Given the description of an element on the screen output the (x, y) to click on. 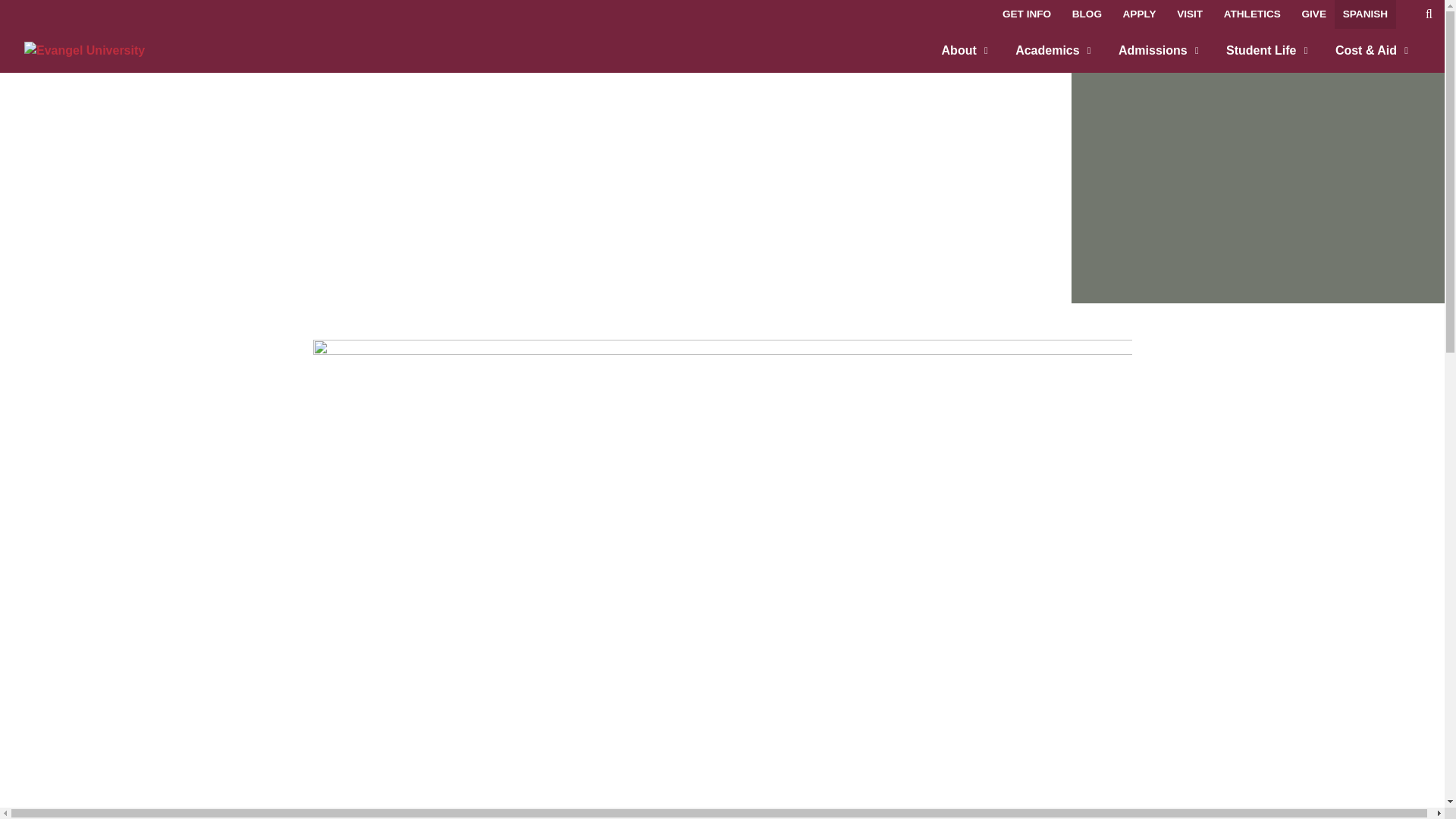
Translate page (1365, 14)
APPLY (1139, 14)
GET INFO (1026, 14)
SPANISH (1365, 14)
Admissions (1158, 50)
BLOG (1086, 14)
ATHLETICS (1251, 14)
GIVE (1314, 14)
VISIT (1190, 14)
Student Life (1266, 50)
Academics (1052, 50)
About (965, 50)
Home (84, 50)
Open Search (1428, 16)
